Given the description of an element on the screen output the (x, y) to click on. 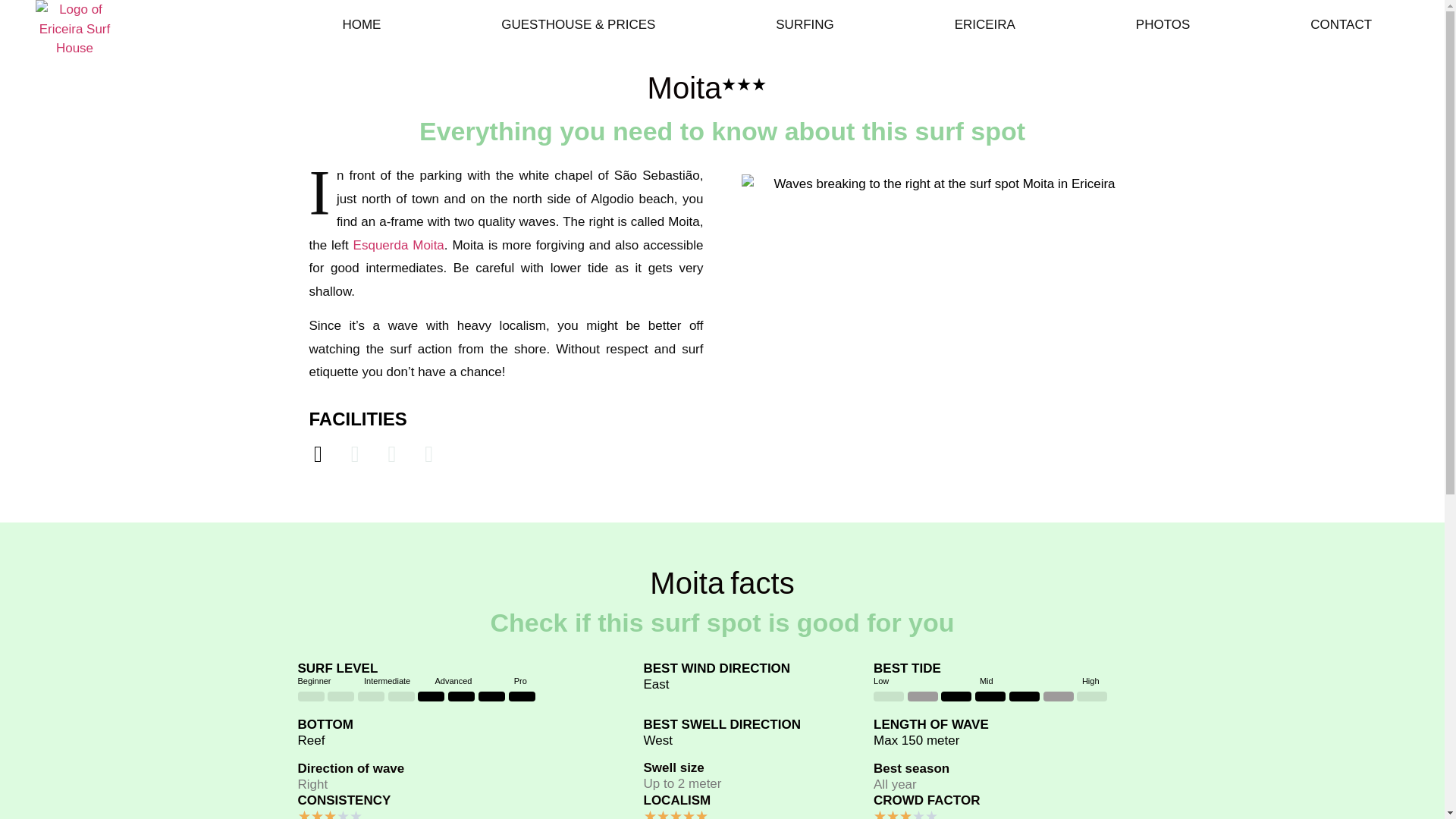
HOME (361, 24)
Esquerda Moita (398, 245)
PHOTOS (1162, 24)
SURFING (804, 24)
CONTACT (1341, 24)
ERICEIRA (984, 24)
